Given the description of an element on the screen output the (x, y) to click on. 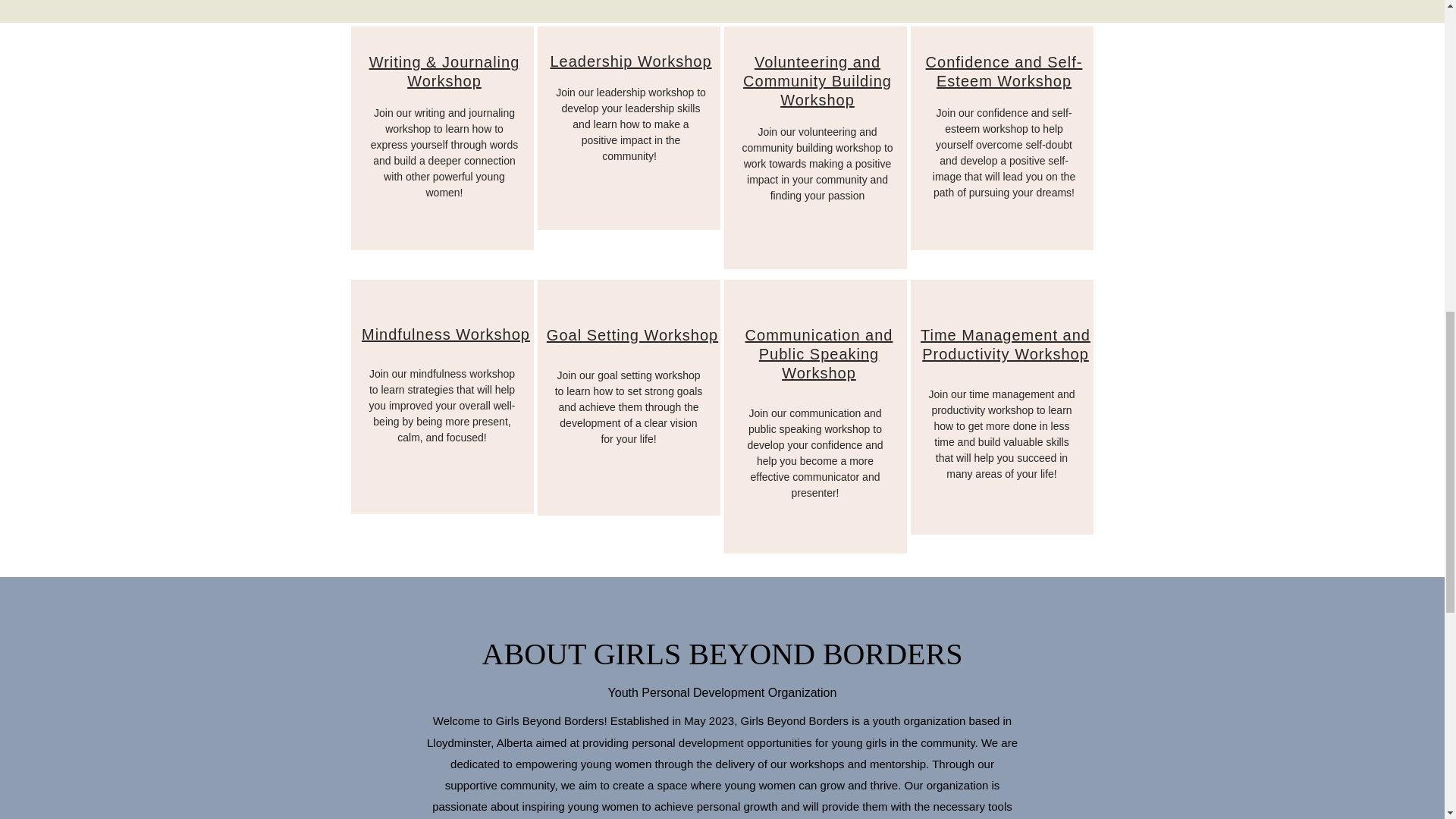
Goal Setting Workshop (632, 334)
Communication and Public Speaking Workshop (819, 353)
Confidence and Self-Esteem Workshop (1004, 71)
Mindfulness Workshop (445, 334)
Leadership Workshop (630, 61)
Volunteering and Community Building Workshop (816, 81)
Time Management and Productivity Workshop (1005, 344)
